Given the description of an element on the screen output the (x, y) to click on. 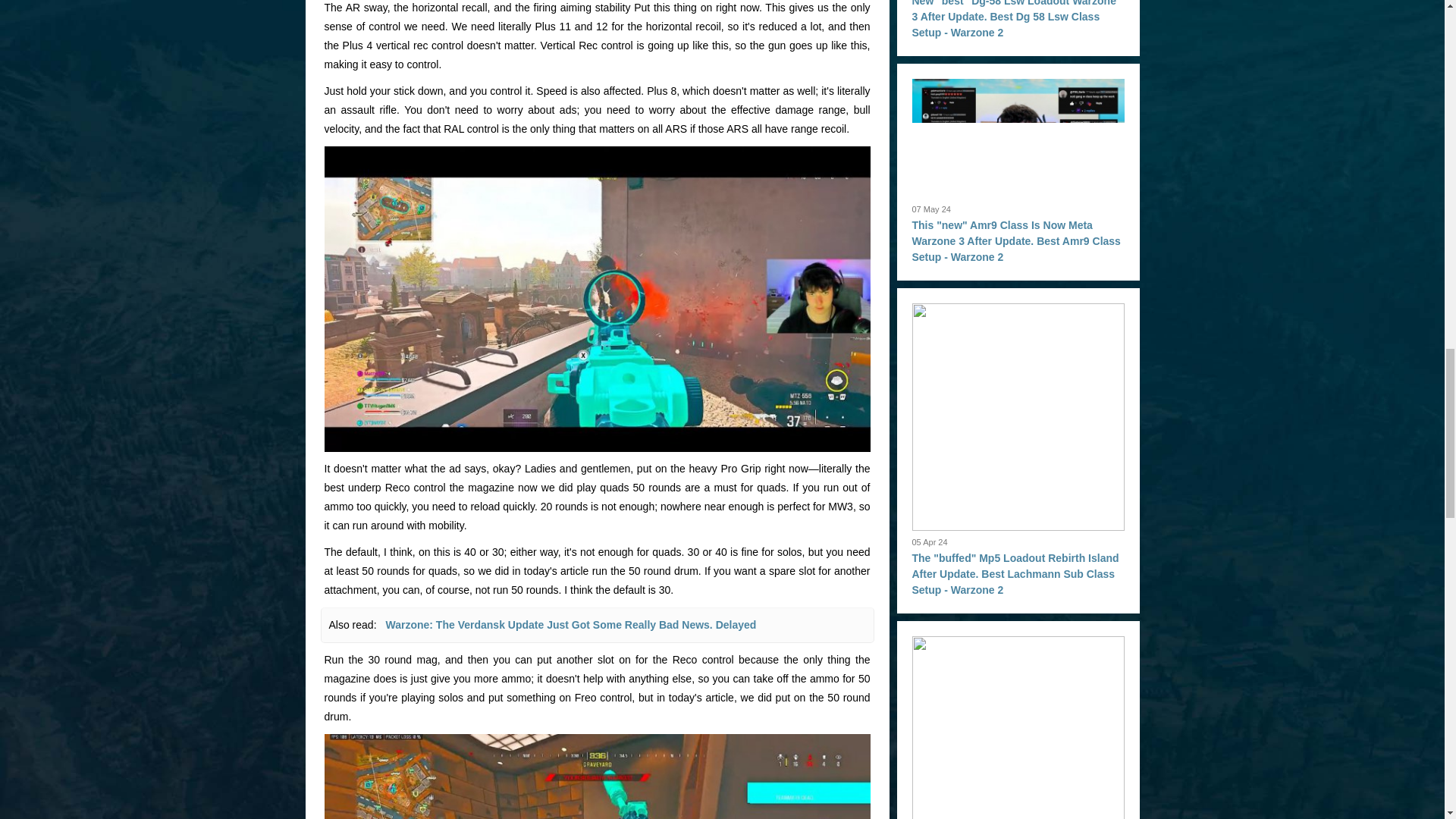
haydz (597, 776)
